Given the description of an element on the screen output the (x, y) to click on. 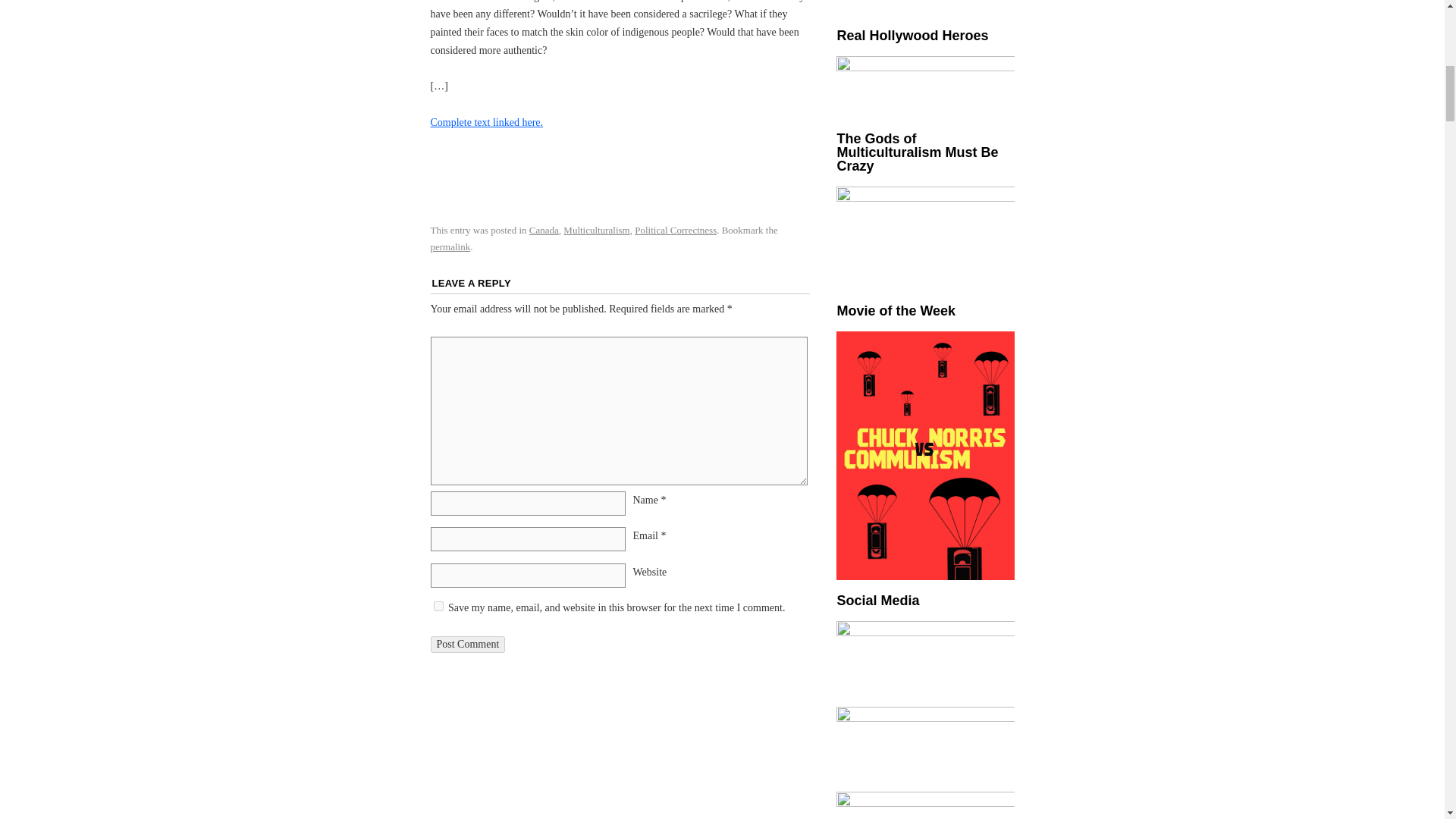
permalink (450, 246)
Political Correctness (675, 229)
Canada (544, 229)
Post Comment (467, 644)
Multiculturalism (595, 229)
yes (438, 605)
Complete text linked here. (486, 122)
Post Comment (467, 644)
